Given the description of an element on the screen output the (x, y) to click on. 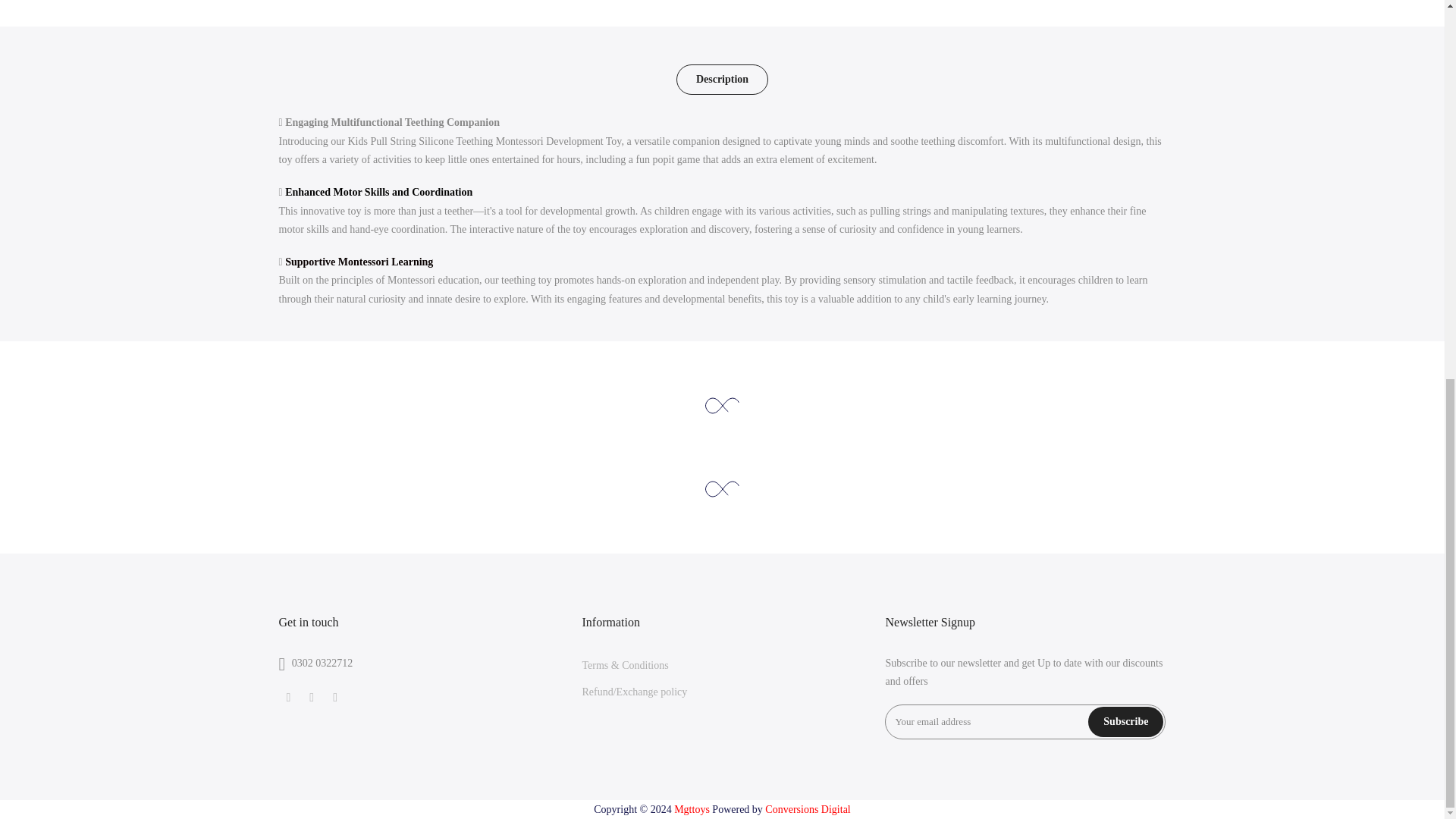
Description (722, 79)
Subscribe (1125, 721)
Conversions Digital (807, 808)
